Given the description of an element on the screen output the (x, y) to click on. 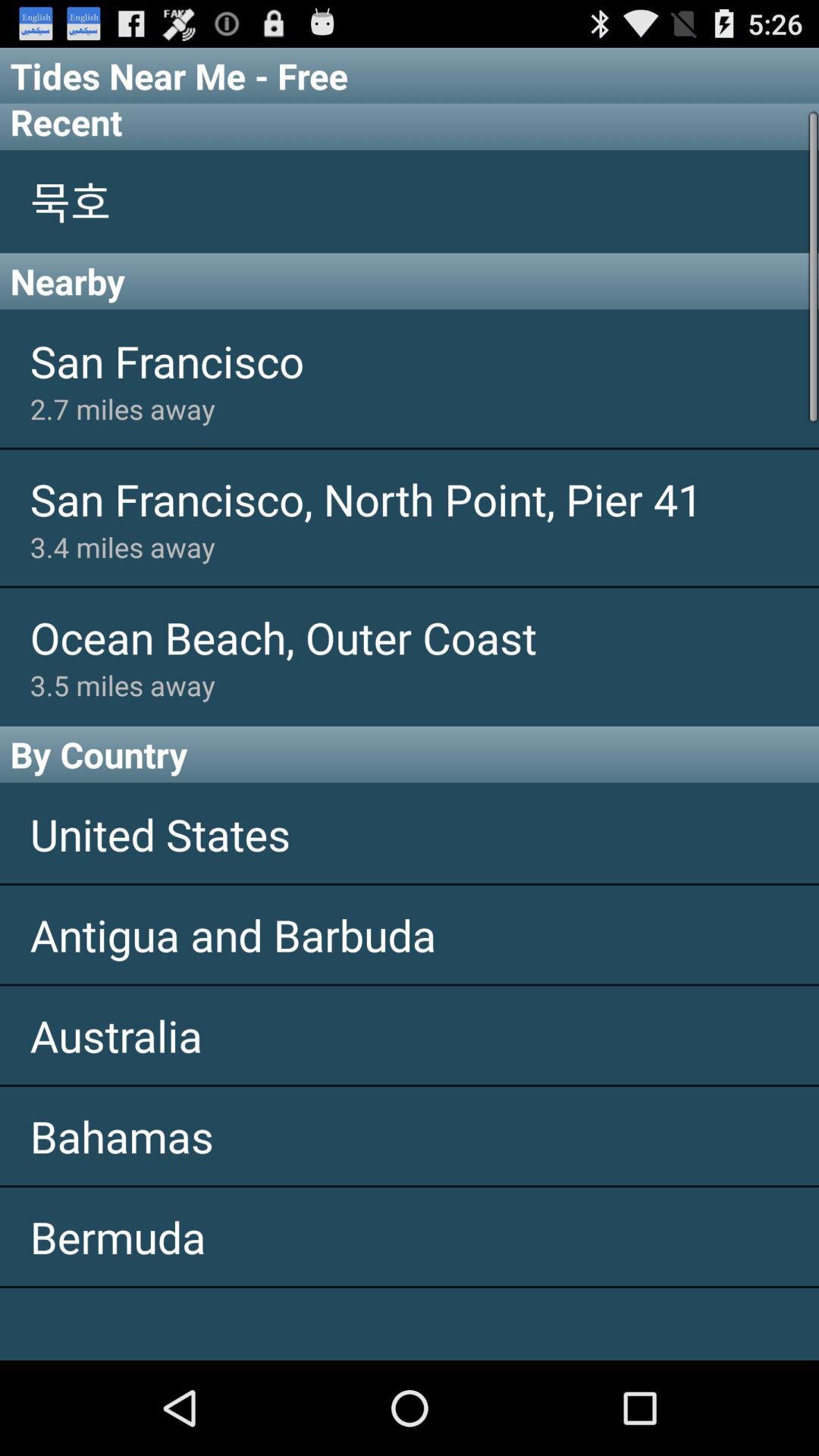
scroll to nearby (409, 281)
